Given the description of an element on the screen output the (x, y) to click on. 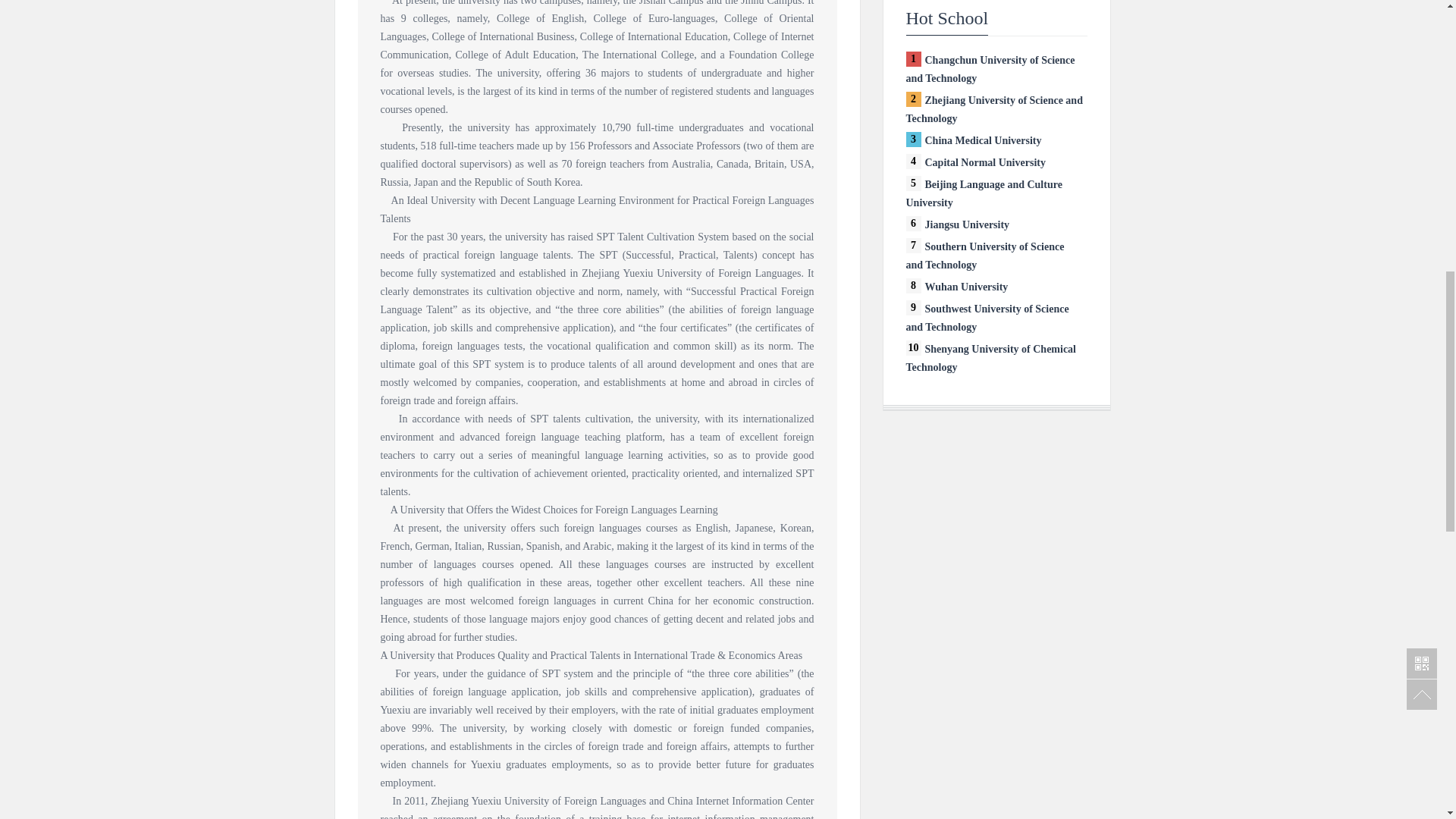
Changchun University of Science and Technology (989, 69)
Zhejiang University of Science and Technology (993, 109)
China Medical University (982, 140)
